Given the description of an element on the screen output the (x, y) to click on. 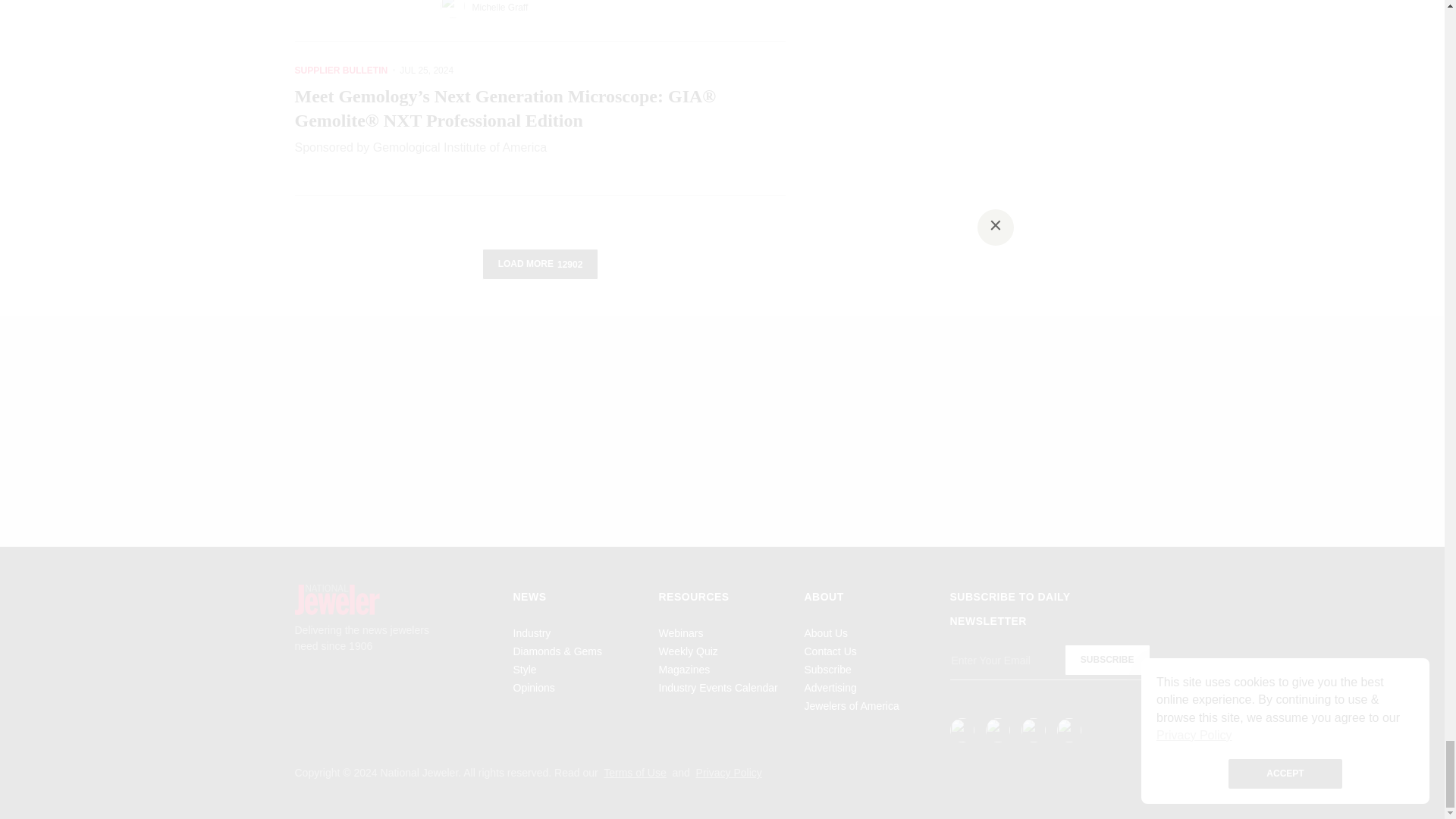
Subscribe (1107, 659)
